Given the description of an element on the screen output the (x, y) to click on. 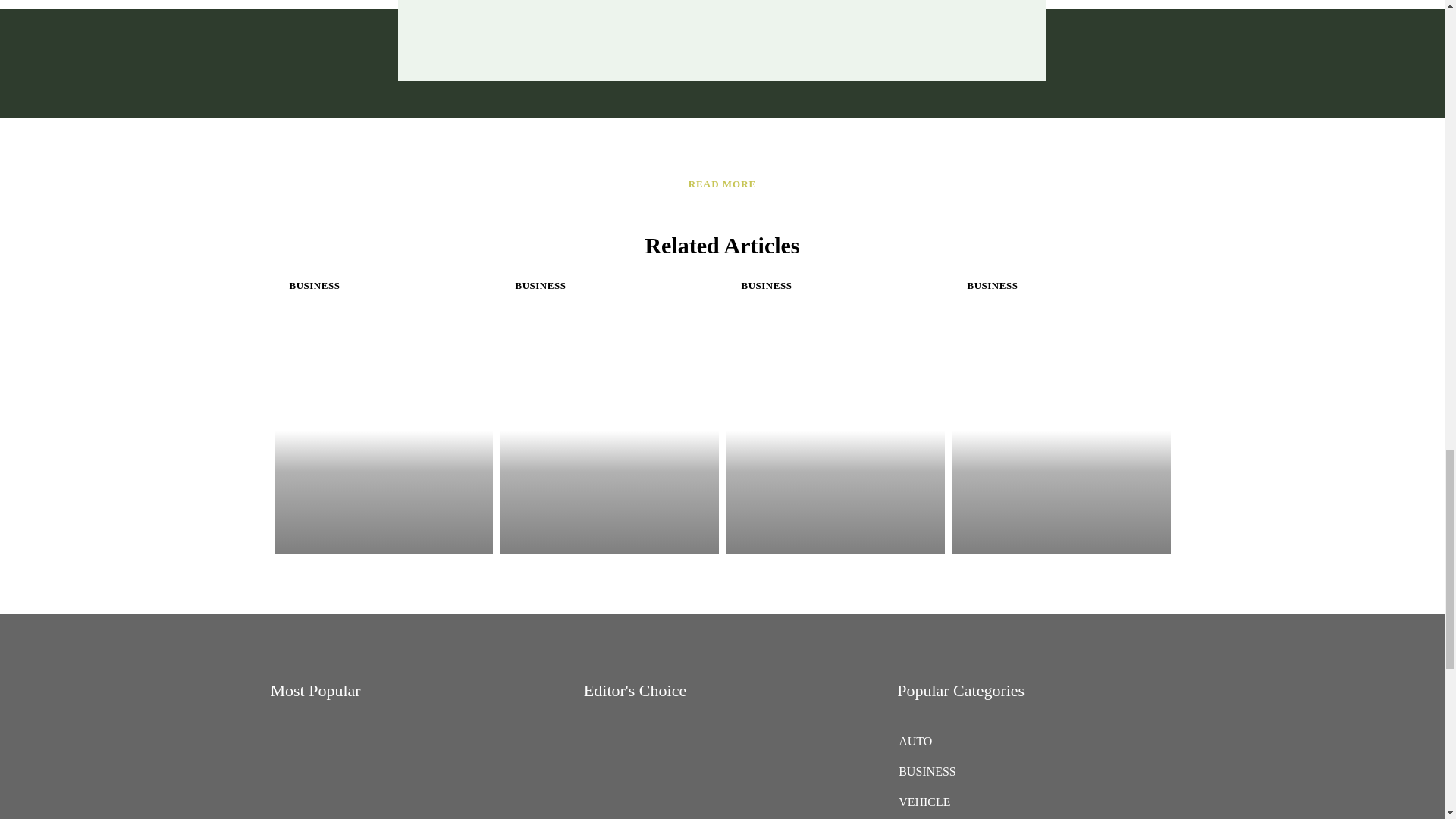
Guaranteeing Solace and Wellbeing at Outside Occasions (351, 317)
Protecting Your Home with Comprehensive Policies (1035, 317)
Avya (471, 25)
